Given the description of an element on the screen output the (x, y) to click on. 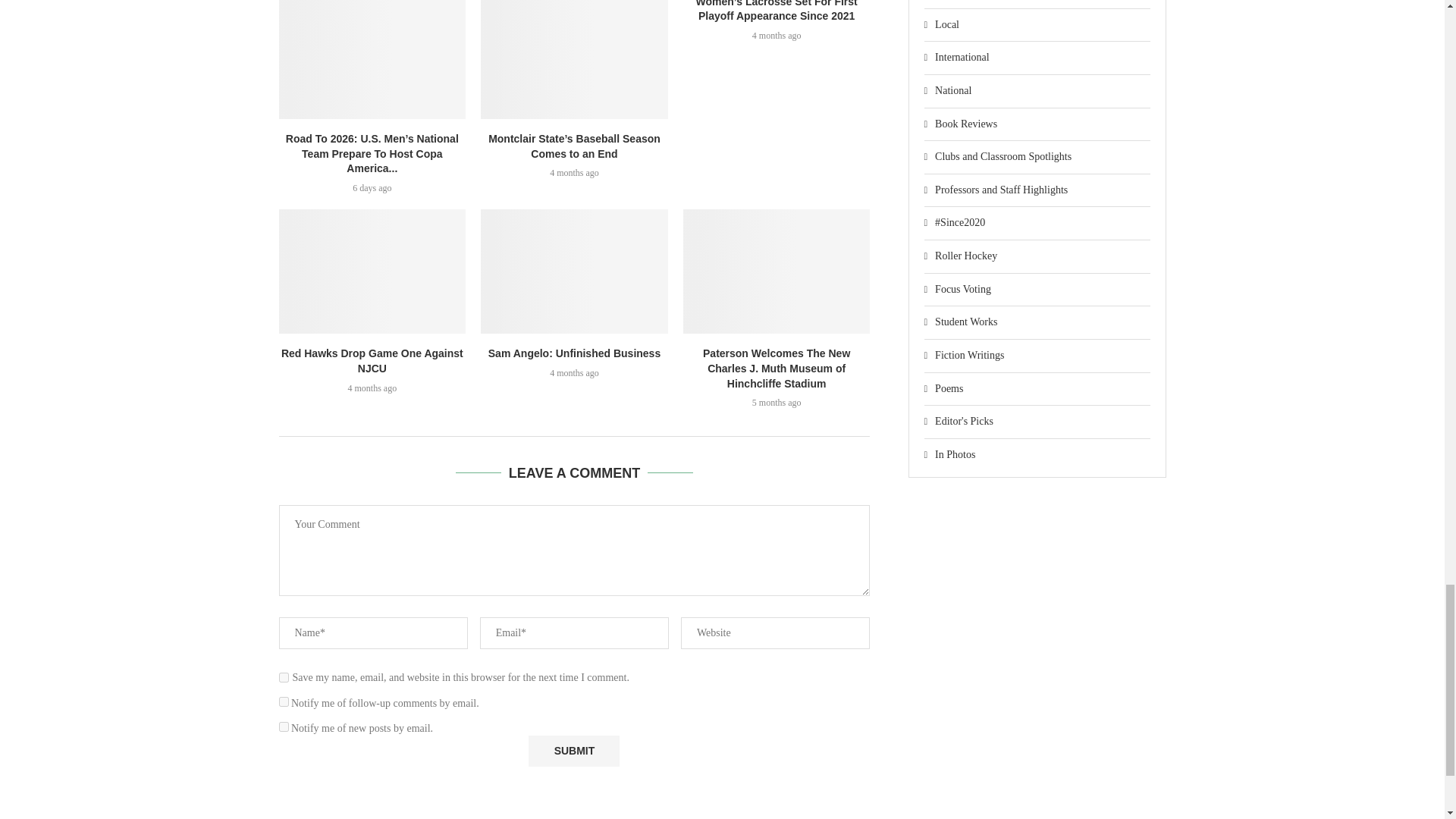
yes (283, 677)
subscribe (283, 701)
Submit (574, 750)
Sam Angelo: Unfinished Business (574, 271)
subscribe (283, 726)
Red Hawks Drop Game One Against NJCU (372, 271)
